Given the description of an element on the screen output the (x, y) to click on. 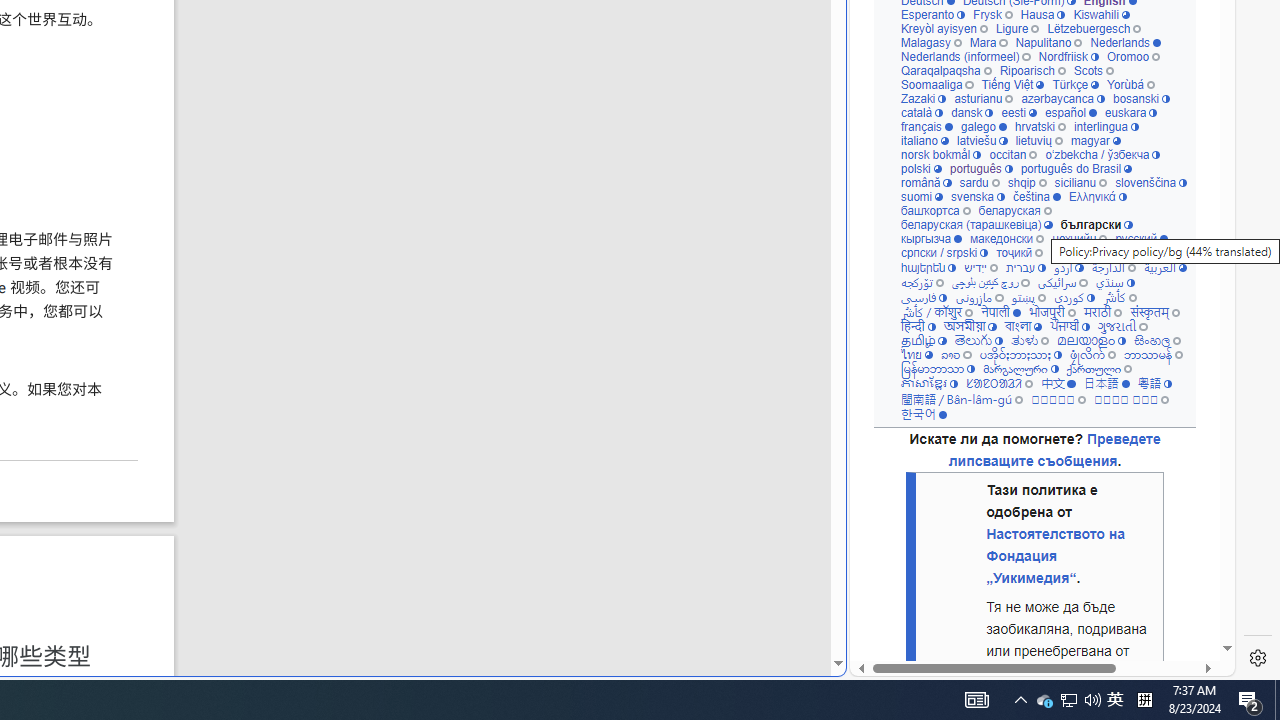
Qaraqalpaqsha (945, 70)
Nordfriisk (1068, 56)
